Given the description of an element on the screen output the (x, y) to click on. 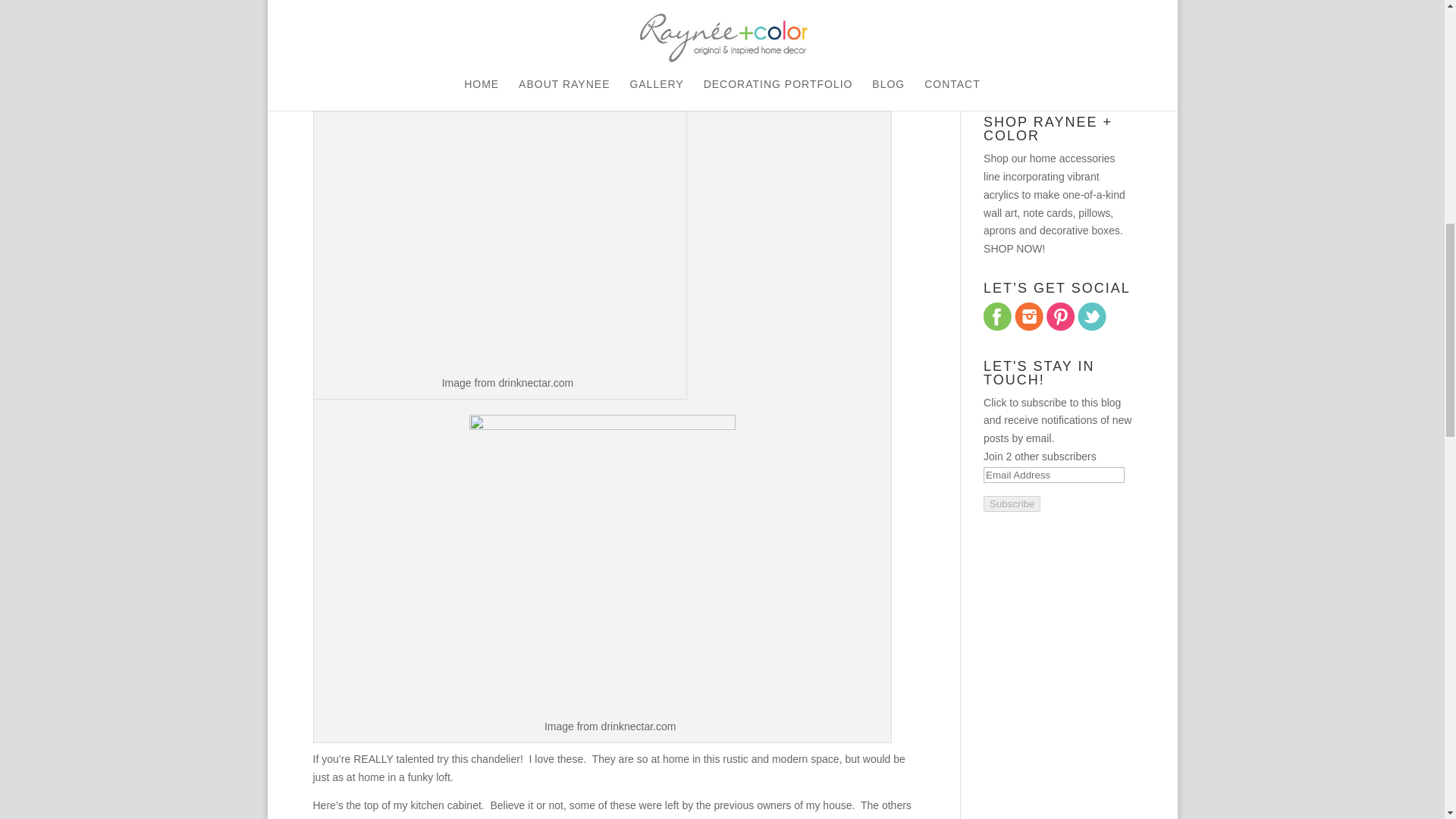
Pier1 (378, 818)
